Given the description of an element on the screen output the (x, y) to click on. 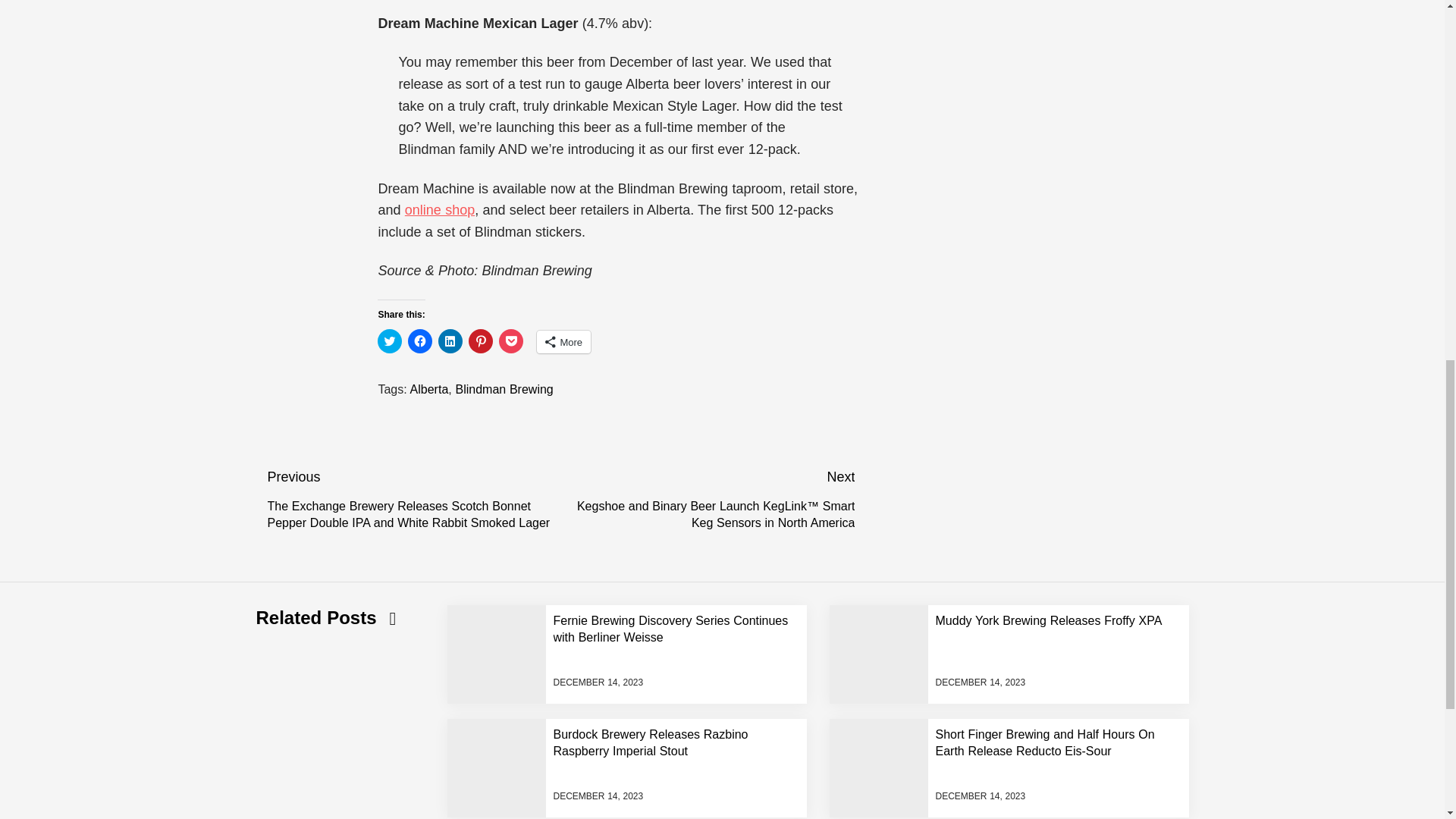
Alberta (429, 389)
Click to share on Facebook (419, 340)
Click to share on Twitter (389, 340)
Blindman Brewing (503, 389)
Click to share on Pinterest (480, 340)
Click to share on Pocket (510, 340)
Click to share on LinkedIn (450, 340)
online shop (439, 209)
More (564, 341)
